Given the description of an element on the screen output the (x, y) to click on. 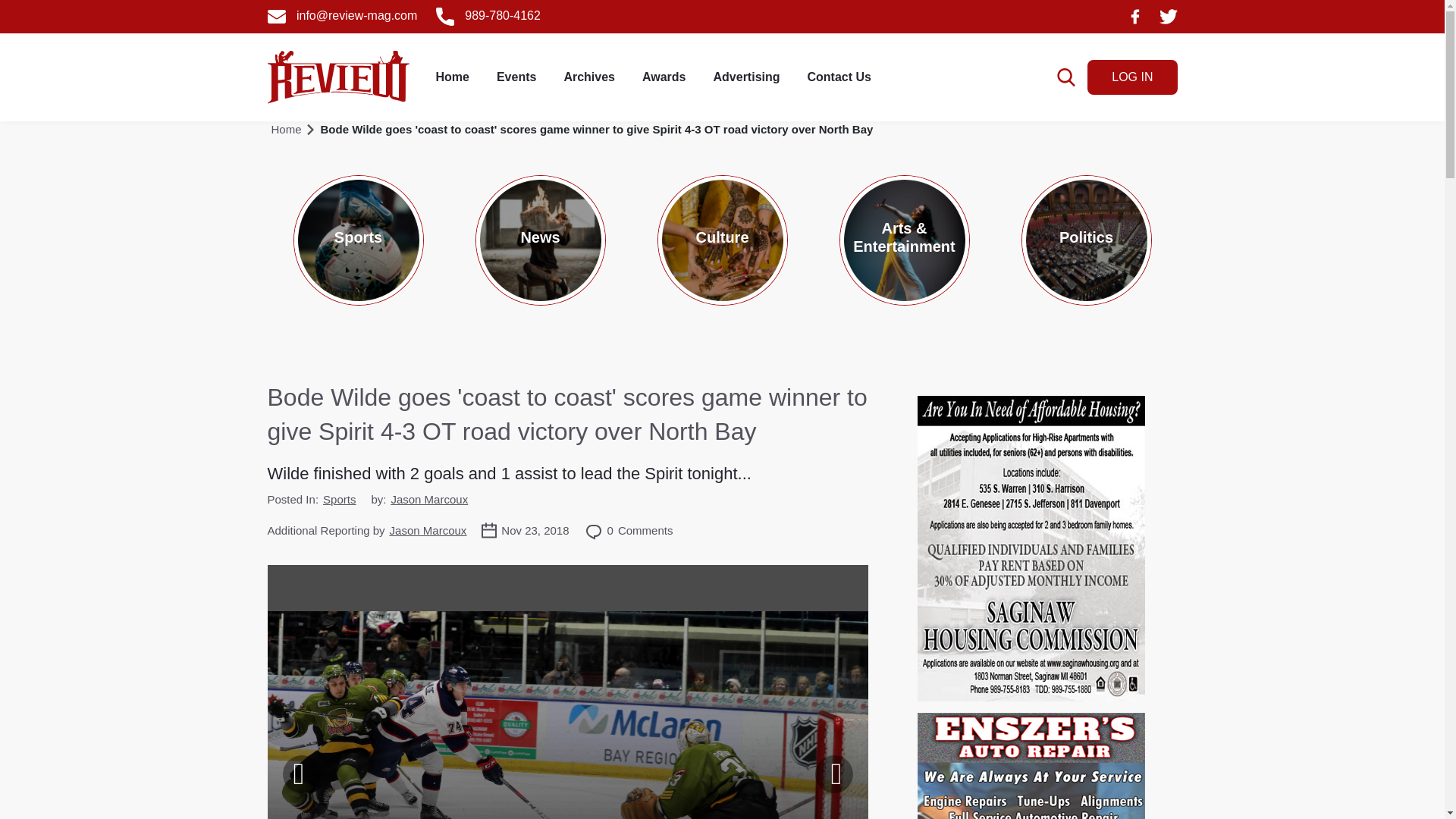
LOG IN (1131, 77)
Events (515, 77)
Contact Us (839, 77)
Home (285, 128)
Sports (339, 499)
989-780-4162 (487, 15)
Politics (1086, 240)
Archives (589, 77)
News (540, 240)
Jason Marcoux (428, 499)
Home (451, 77)
Awards (664, 77)
Jason Marcoux (428, 530)
Sports (358, 240)
